Given the description of an element on the screen output the (x, y) to click on. 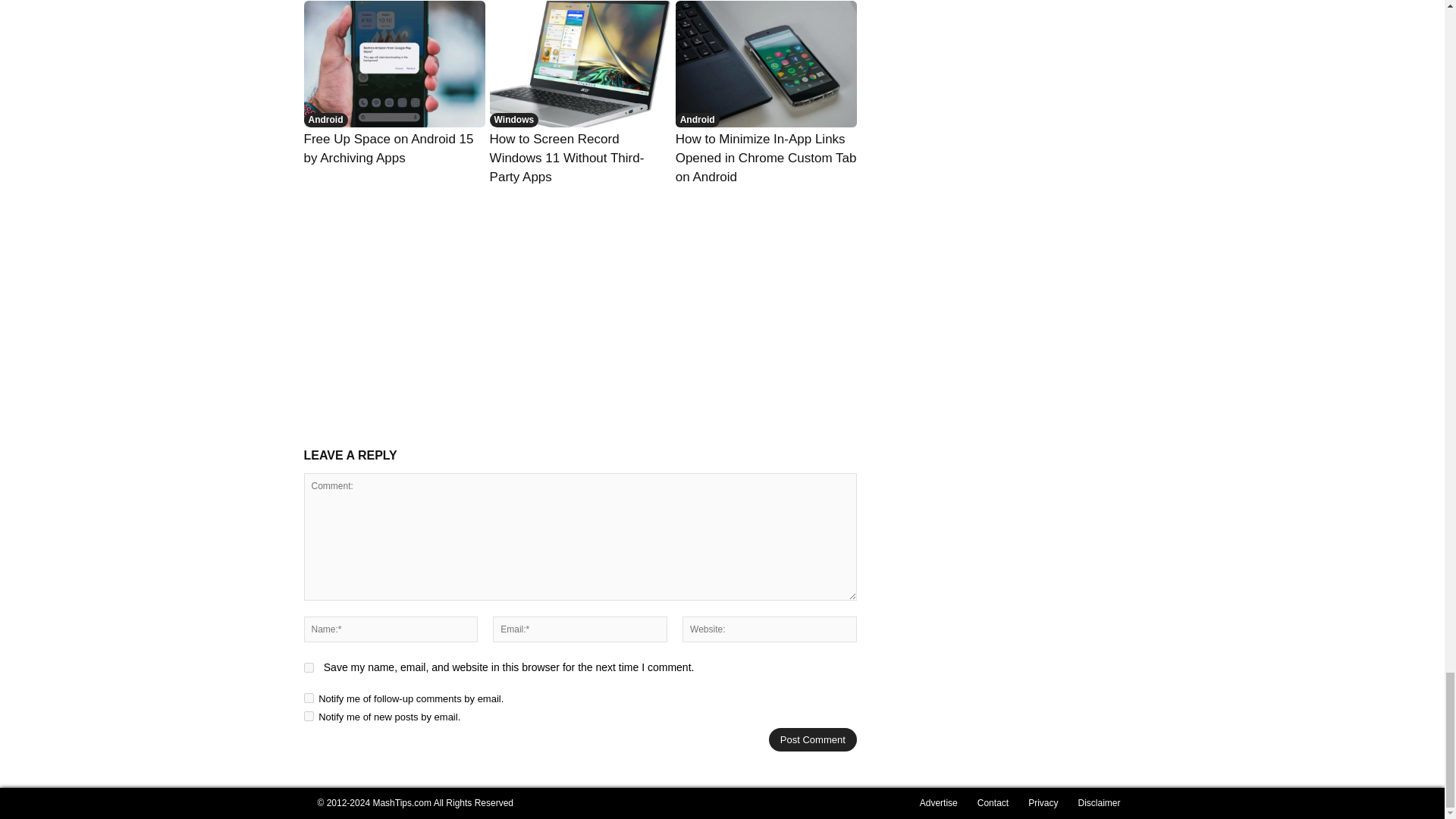
subscribe (307, 697)
Post Comment (812, 739)
subscribe (307, 716)
yes (307, 667)
